Given the description of an element on the screen output the (x, y) to click on. 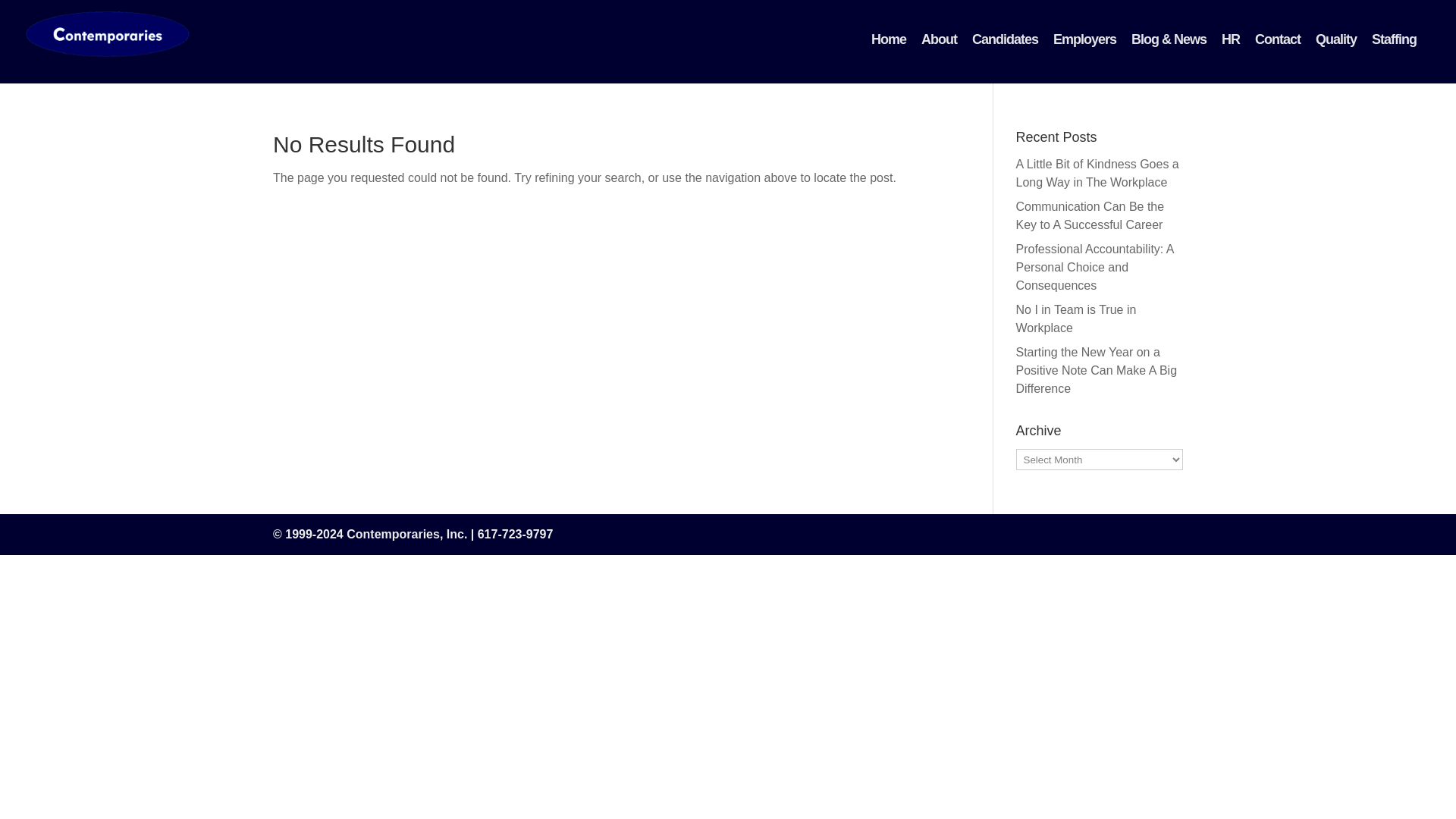
About (938, 39)
Quality (1335, 39)
Staffing (1393, 39)
Home (888, 39)
HR (1230, 39)
Candidates (1004, 39)
Contact (1277, 39)
Employers (1084, 39)
